Given the description of an element on the screen output the (x, y) to click on. 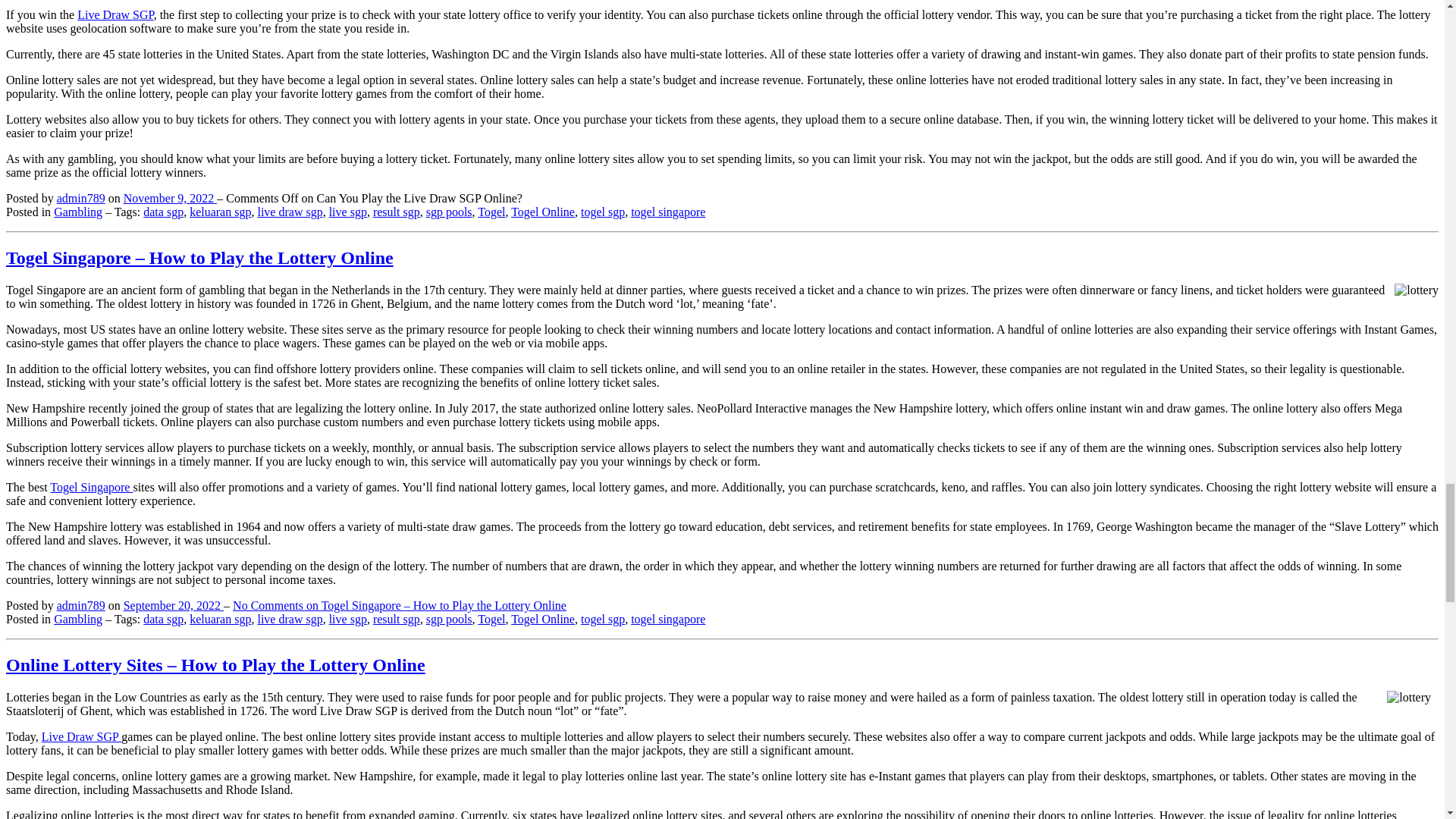
keluaran sgp (219, 211)
togel singapore (667, 211)
togel singapore (667, 618)
November 9, 2022 (169, 197)
Gambling (77, 211)
Togel Online (543, 618)
live draw sgp (289, 618)
admin789 (80, 197)
Live Draw SGP (114, 14)
result sgp (396, 211)
Togel Online (543, 211)
live draw sgp (289, 211)
September 20, 2022 (173, 604)
togel sgp (602, 618)
data sgp (162, 618)
